Given the description of an element on the screen output the (x, y) to click on. 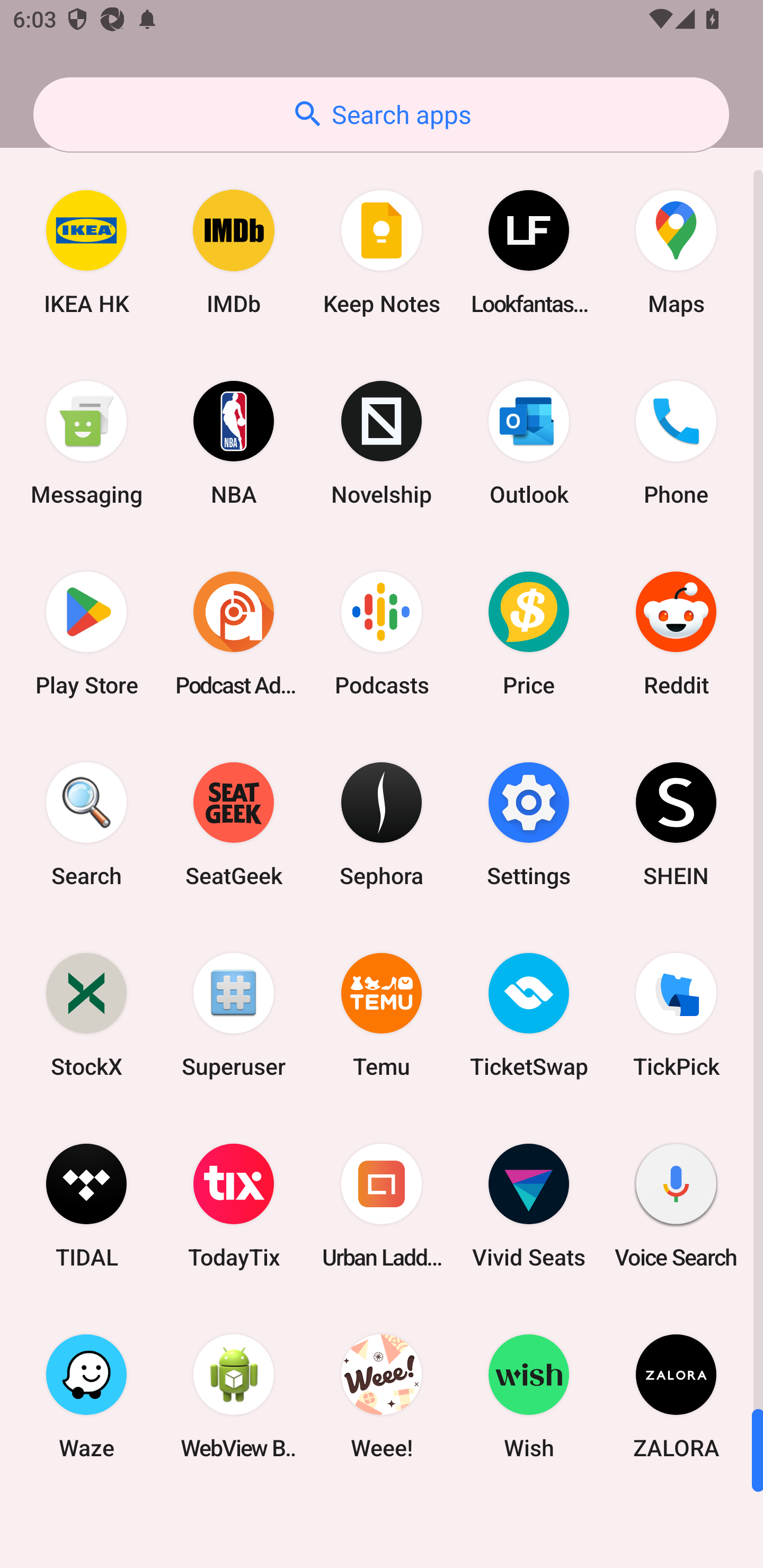
  Search apps (381, 114)
IKEA HK (86, 252)
IMDb (233, 252)
Keep Notes (381, 252)
Lookfantastic (528, 252)
Maps (676, 252)
Messaging (86, 442)
NBA (233, 442)
Novelship (381, 442)
Outlook (528, 442)
Phone (676, 442)
Play Store (86, 633)
Podcast Addict (233, 633)
Podcasts (381, 633)
Price (528, 633)
Reddit (676, 633)
Search (86, 823)
SeatGeek (233, 823)
Sephora (381, 823)
Settings (528, 823)
SHEIN (676, 823)
StockX (86, 1014)
Superuser (233, 1014)
Temu (381, 1014)
TicketSwap (528, 1014)
TickPick (676, 1014)
TIDAL (86, 1205)
TodayTix (233, 1205)
Urban Ladder (381, 1205)
Vivid Seats (528, 1205)
Voice Search (676, 1205)
Waze (86, 1396)
WebView Browser Tester (233, 1396)
Weee! (381, 1396)
Wish (528, 1396)
ZALORA (676, 1396)
